Given the description of an element on the screen output the (x, y) to click on. 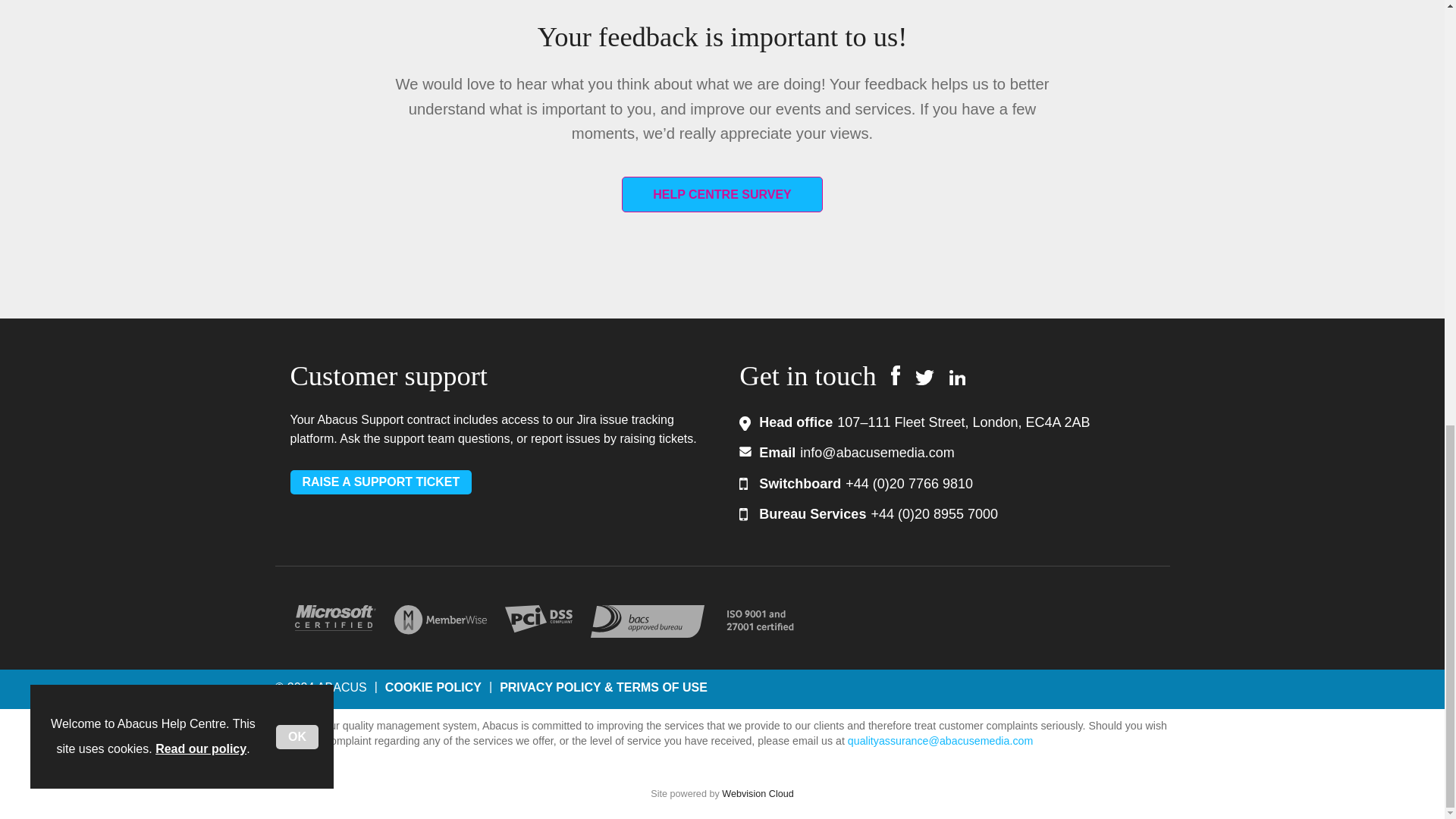
Microsoft (334, 617)
PCI DDS compliant (538, 619)
footer-social-li (957, 377)
Memberwise (440, 619)
footer-social-twitter (924, 377)
